Given the description of an element on the screen output the (x, y) to click on. 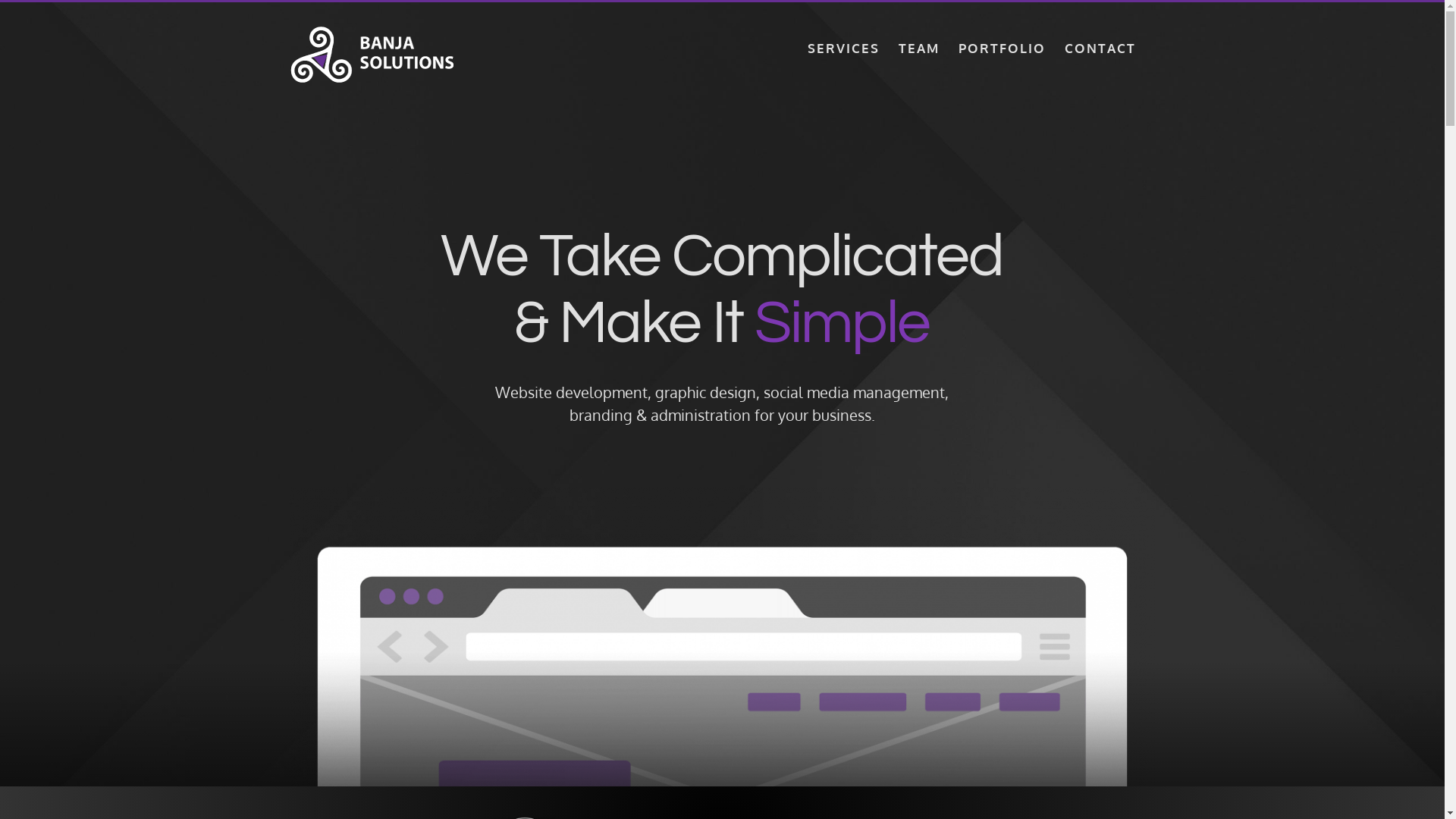
SERVICES Element type: text (842, 47)
TEAM Element type: text (917, 47)
PORTFOLIO Element type: text (1001, 47)
CONTACT Element type: text (1099, 47)
Ipad-Cover-Banja-min Element type: hover (721, 636)
